Given the description of an element on the screen output the (x, y) to click on. 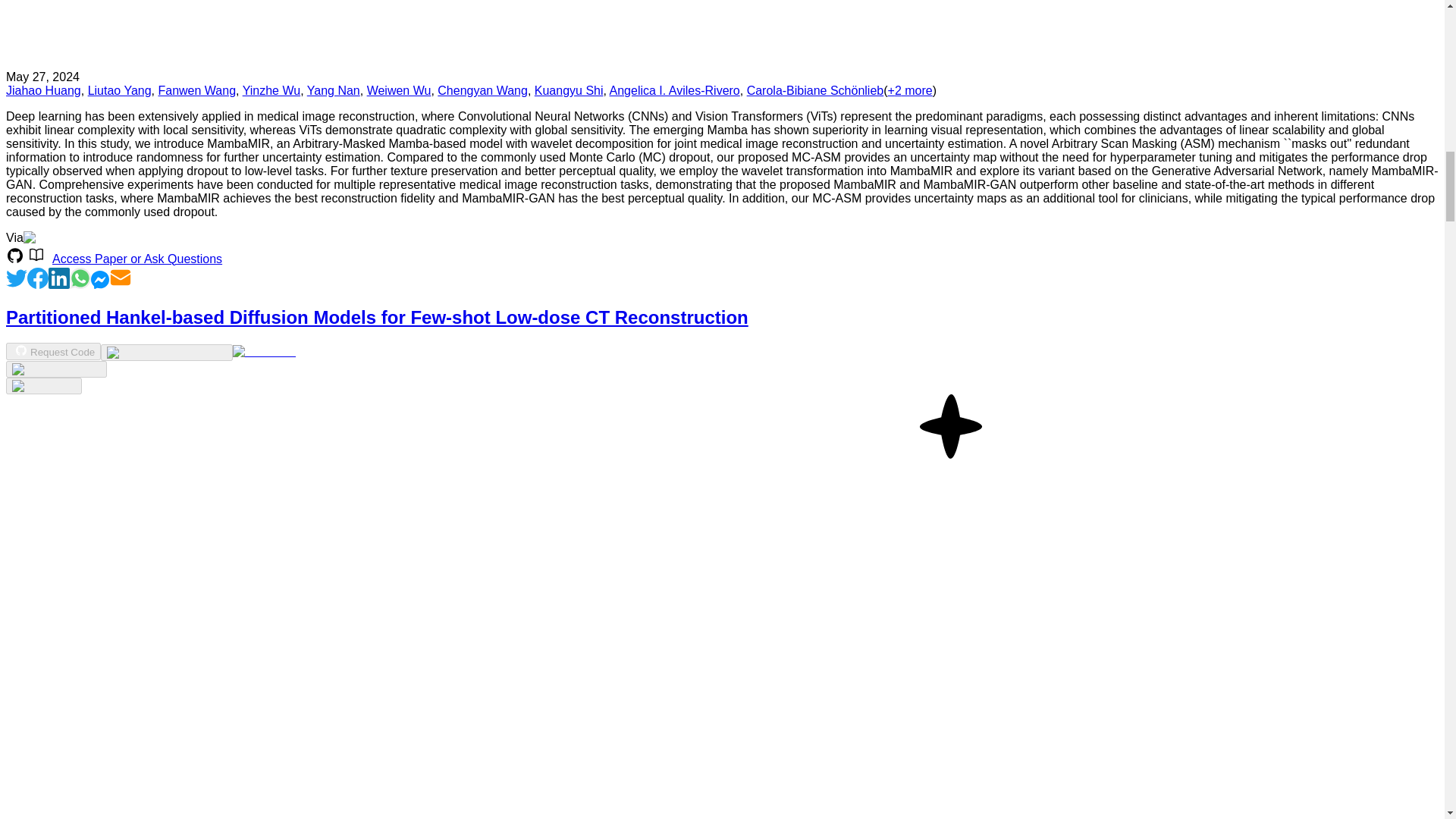
Kuangyu Shi (569, 90)
Weiwen Wu (398, 90)
Facebook Icon (37, 284)
Linkedin Icon (58, 284)
Facebook Icon (37, 278)
Messenger Icon (99, 284)
Twitter Icon (16, 278)
Github Icon (20, 349)
Angelica I. Aviles-Rivero (674, 90)
View code for similar papers (165, 352)
